Given the description of an element on the screen output the (x, y) to click on. 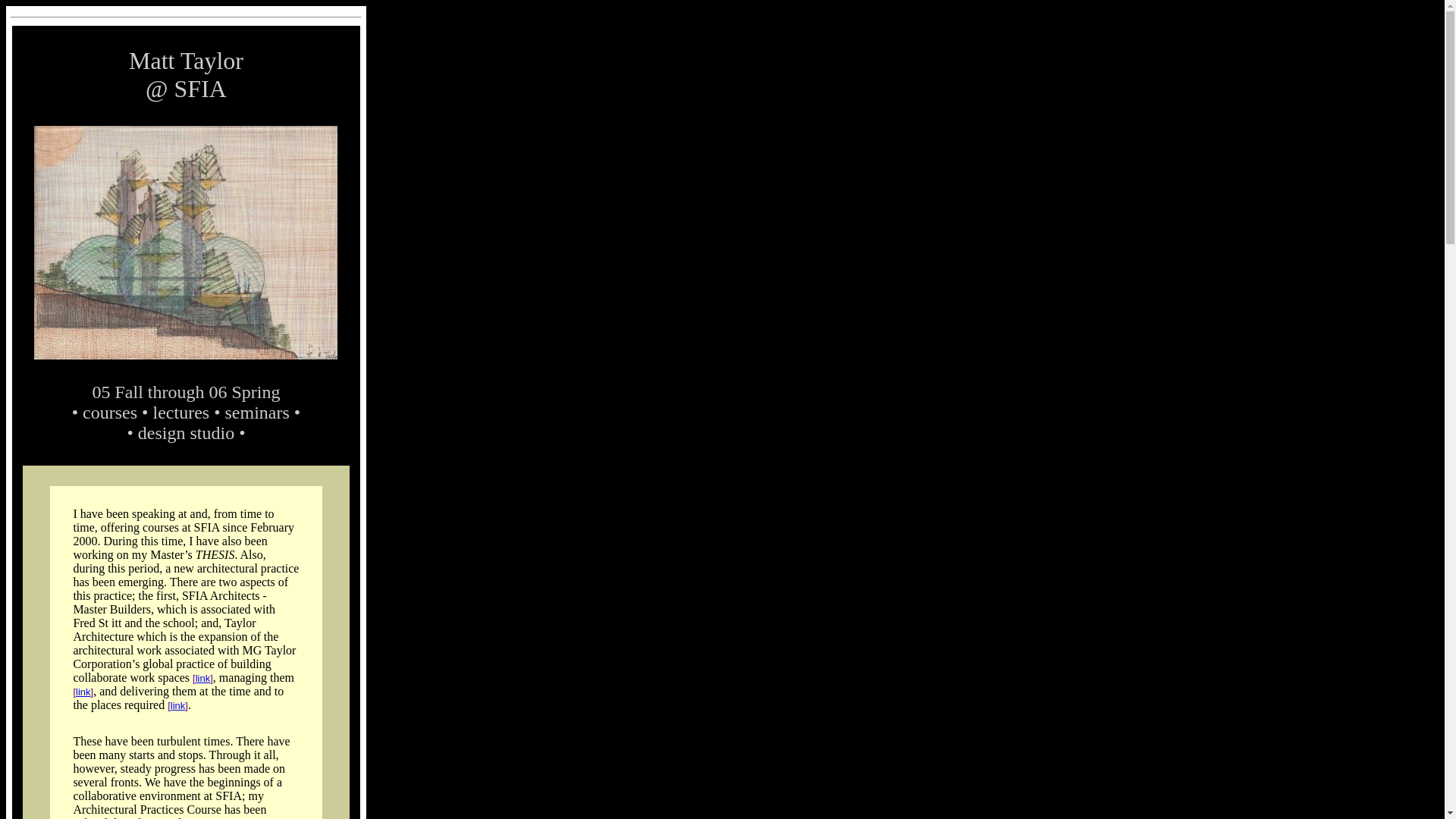
link (203, 677)
link (82, 691)
link (178, 705)
